Given the description of an element on the screen output the (x, y) to click on. 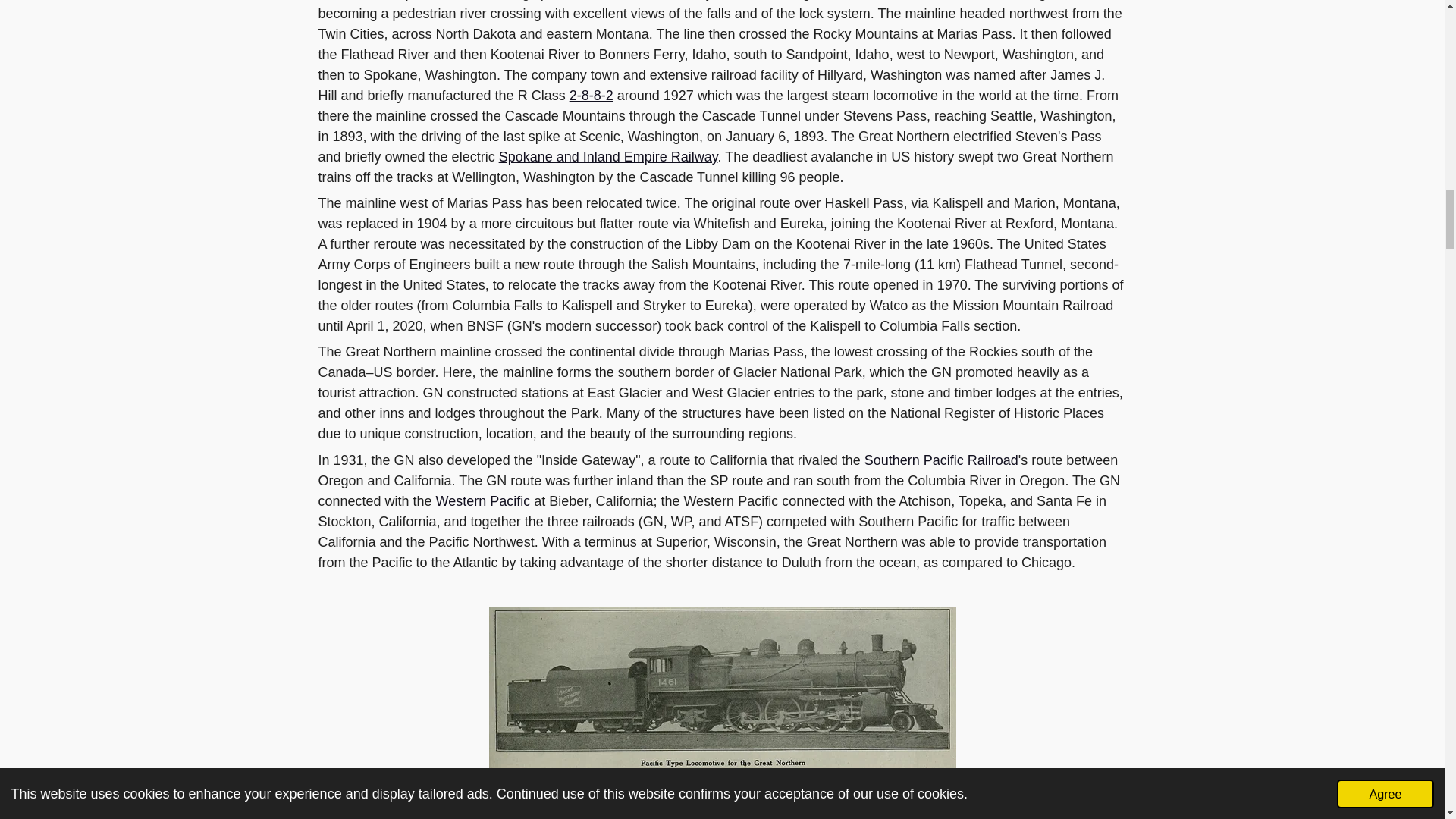
Spokane and Inland Empire Railway (608, 156)
Western Pacific (483, 500)
2-8-8-2 (590, 95)
Show large version (721, 689)
Southern Pacific Railroad (940, 459)
